Given the description of an element on the screen output the (x, y) to click on. 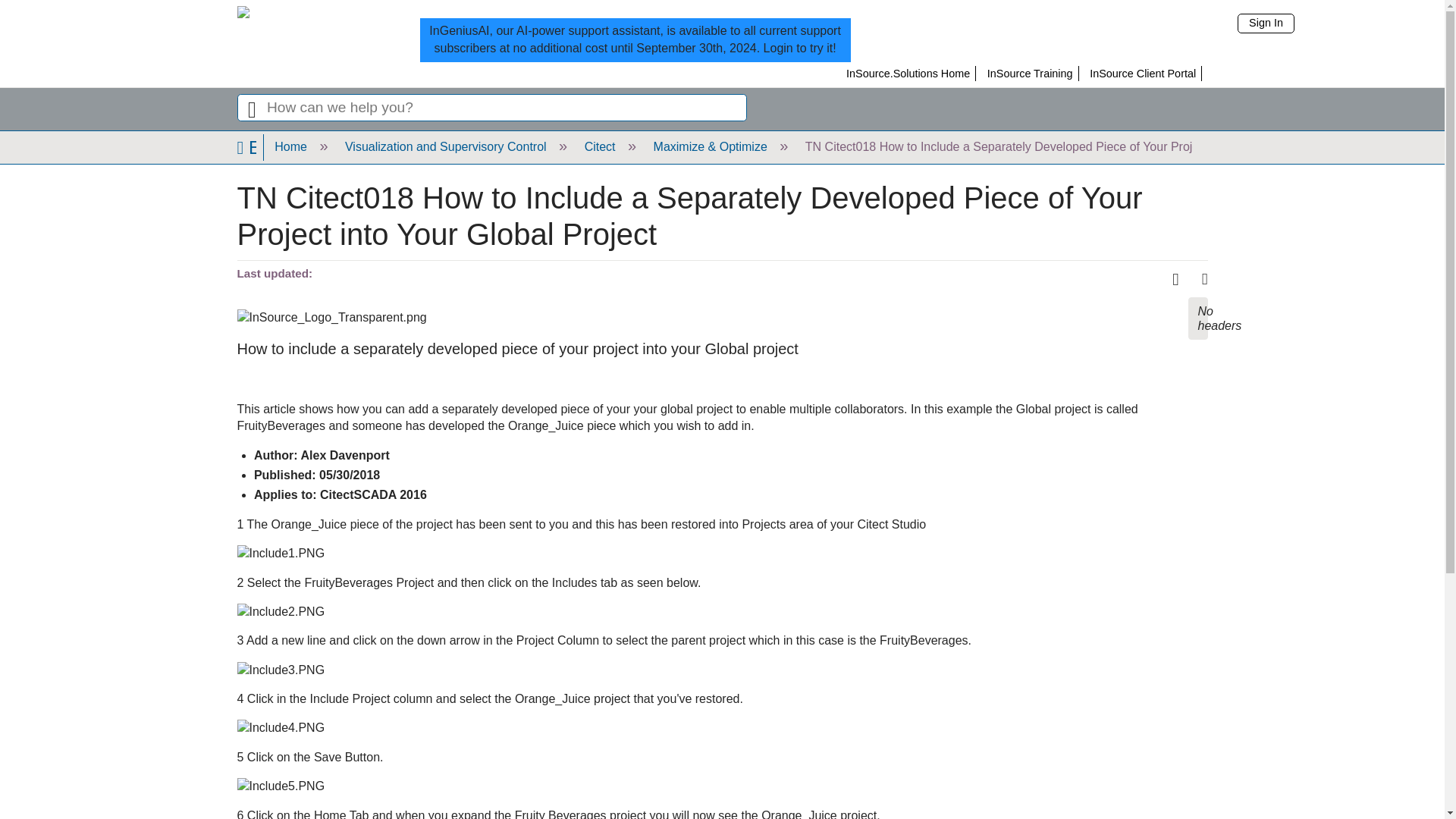
InSource.Solutions Home (907, 73)
Visualization and Supervisory Control (445, 146)
InSource Training (1030, 73)
Search (250, 108)
Home (289, 146)
Citect (598, 146)
InSource Client Portal (1142, 73)
Sign In (1266, 23)
